Given the description of an element on the screen output the (x, y) to click on. 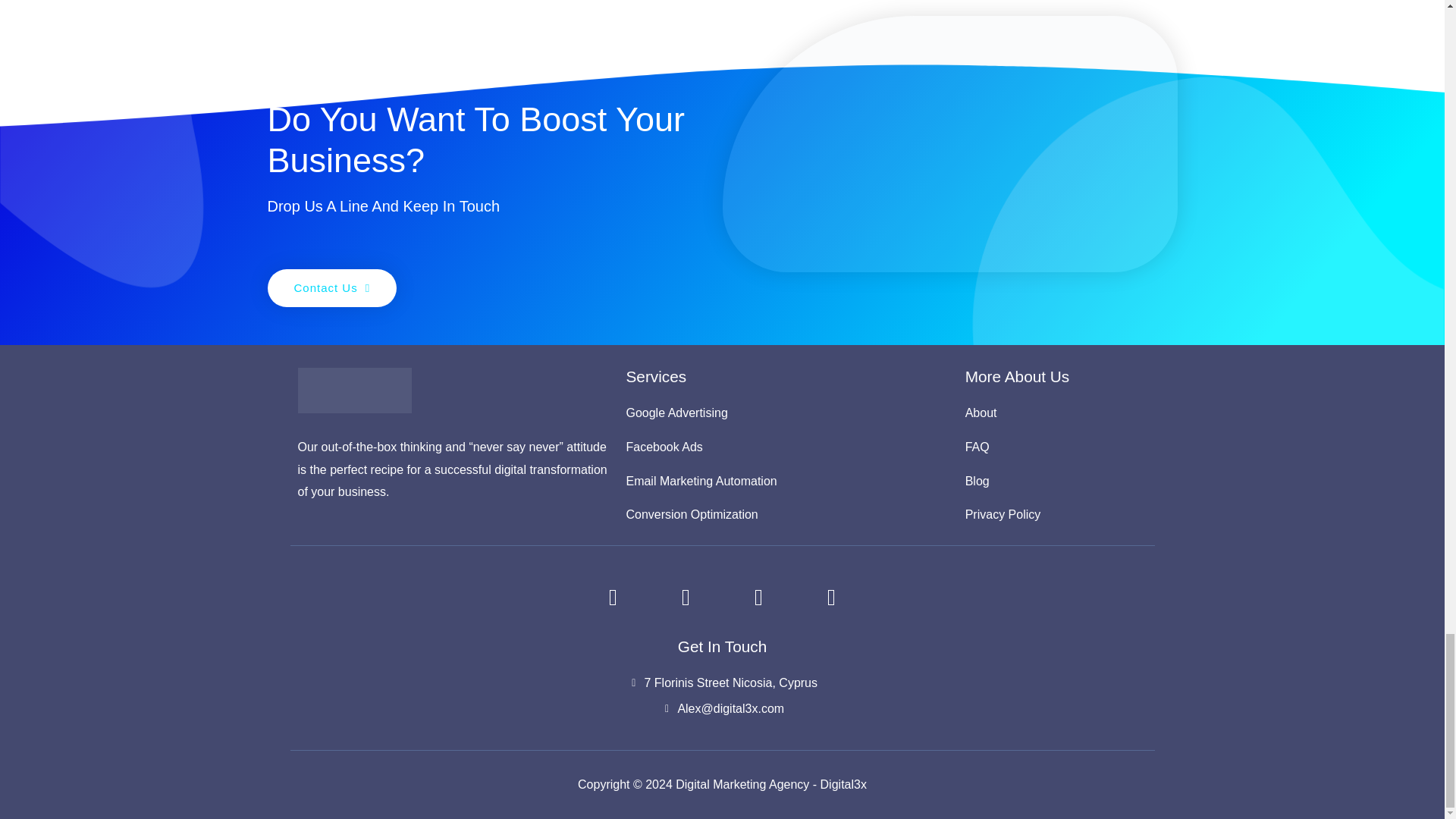
Contact Us (331, 288)
Facebook Ads (785, 446)
Google Advertising (785, 413)
